Given the description of an element on the screen output the (x, y) to click on. 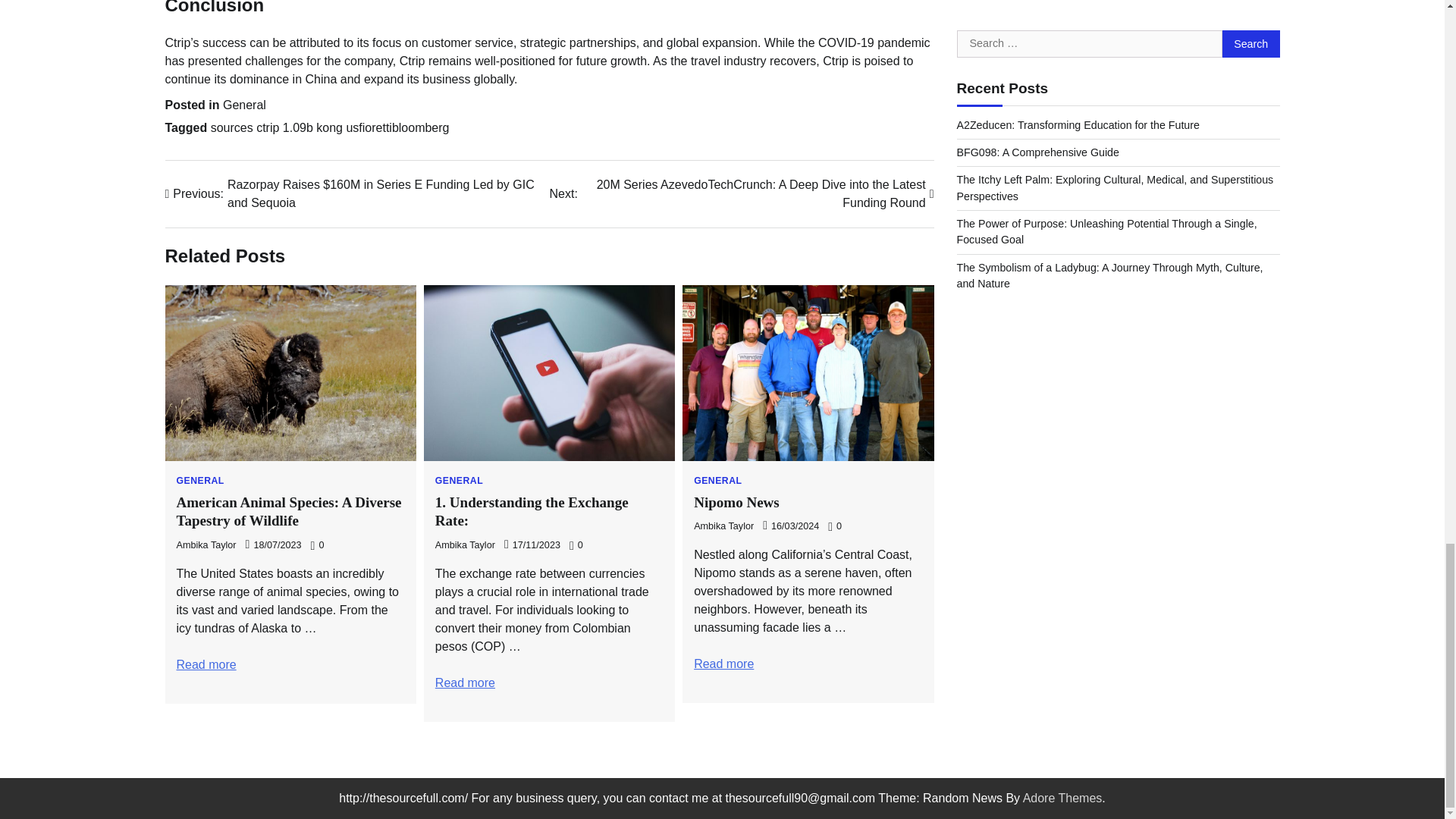
Nipomo News (724, 663)
American Animal Species: A Diverse Tapestry of Wildlife (205, 664)
1. Understanding the Exchange Rate: (465, 682)
